Given the description of an element on the screen output the (x, y) to click on. 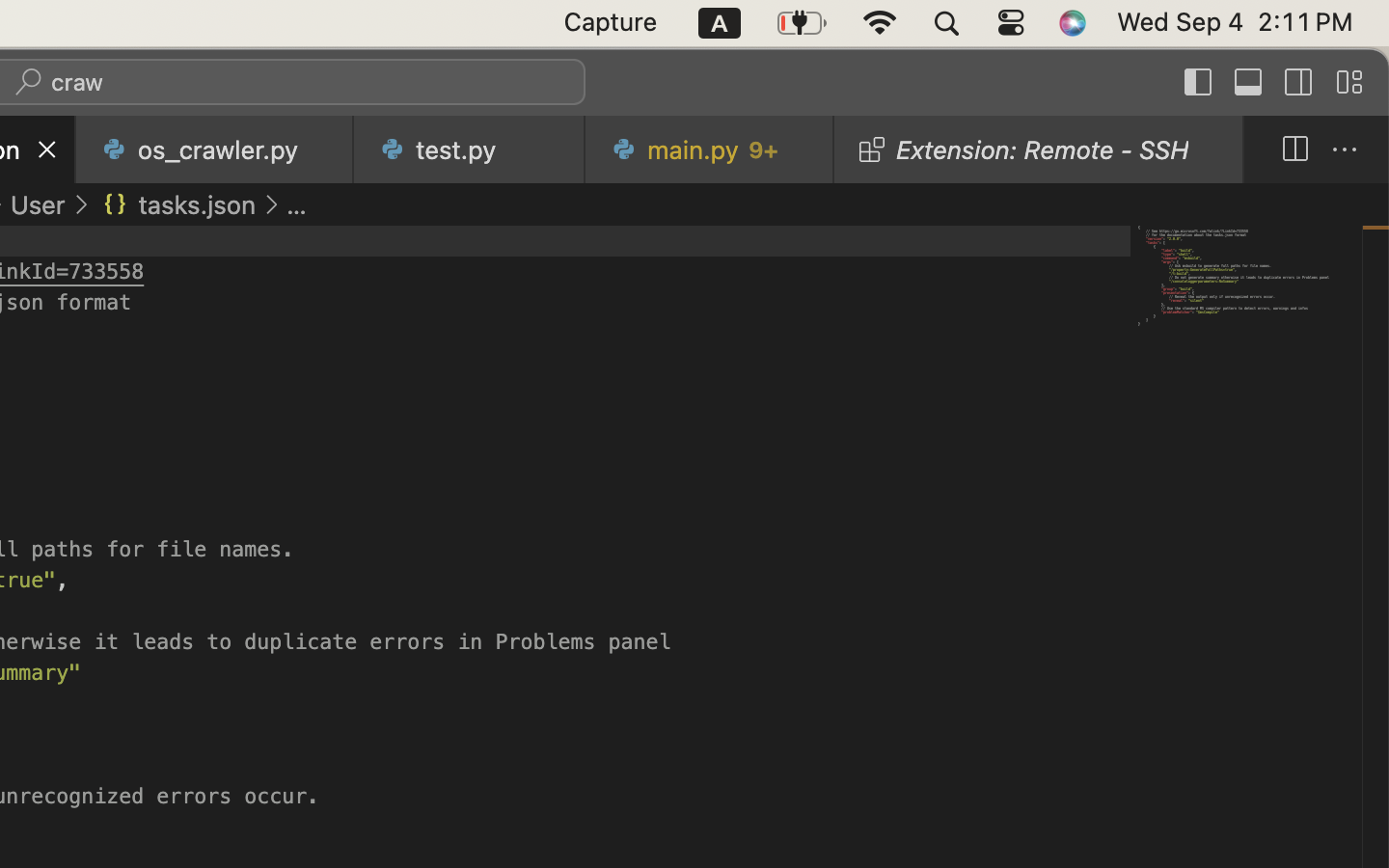
craw Element type: AXStaticText (78, 82)
0 Extension: Remote - SSH   Element type: AXRadioButton (1039, 149)
User Element type: AXGroup (37, 204)
 Element type: AXButton (1294, 150)
0 os_crawler.py   Element type: AXRadioButton (214, 149)
